Given the description of an element on the screen output the (x, y) to click on. 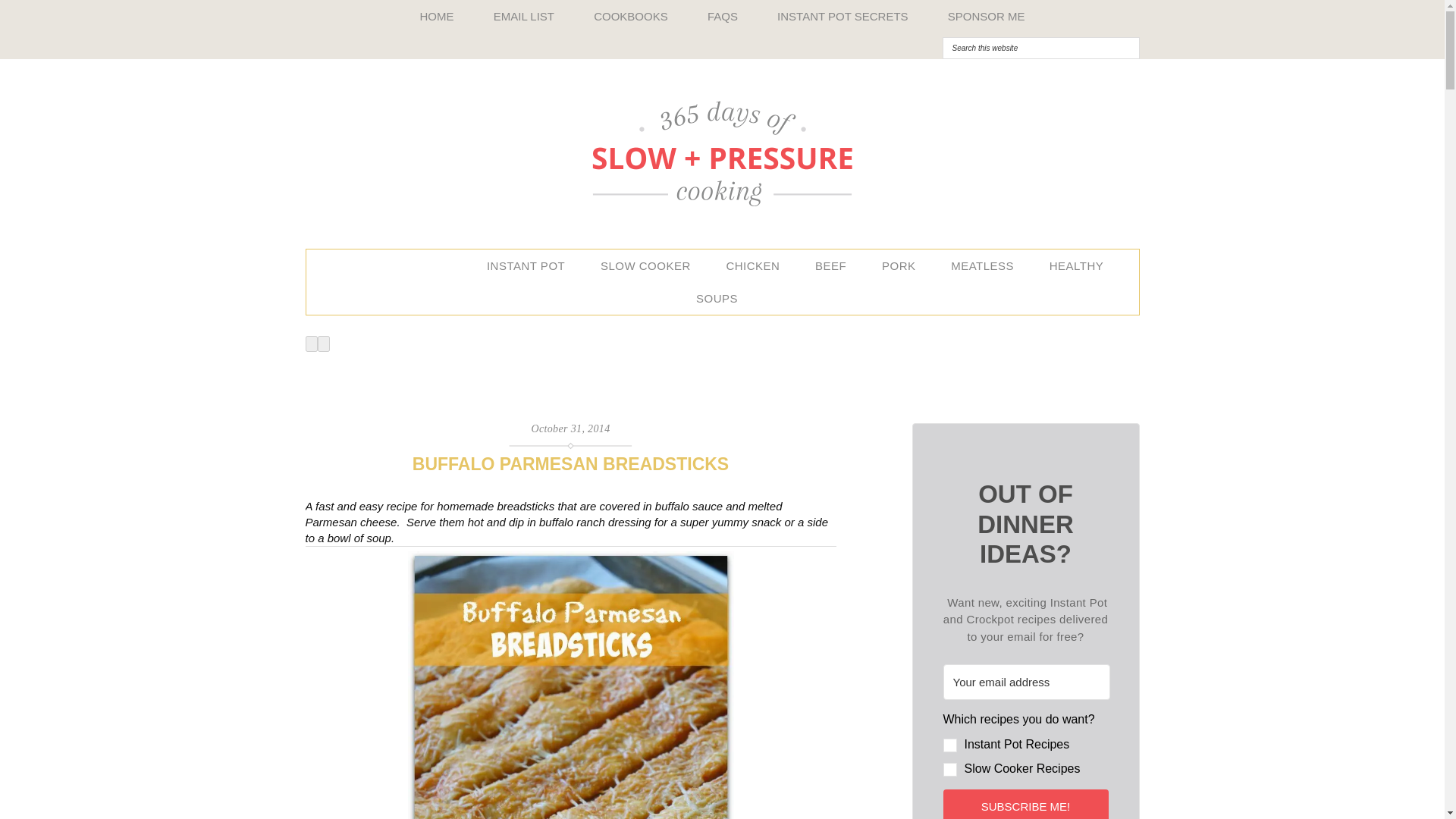
SLOW COOKER (650, 265)
MEATLESS (987, 265)
CHICKEN (757, 265)
FAQS (721, 16)
Recipe for Buffalo Parmesan Breadsticks (570, 685)
INSTANT POT SECRETS (842, 16)
HEALTHY (1082, 265)
EMAIL LIST (524, 16)
365 Days of Slow Cooking and Pressure Cooking (721, 153)
SUBSCRIBE ME! (1025, 804)
COOKBOOKS (630, 16)
HOME (436, 16)
